Given the description of an element on the screen output the (x, y) to click on. 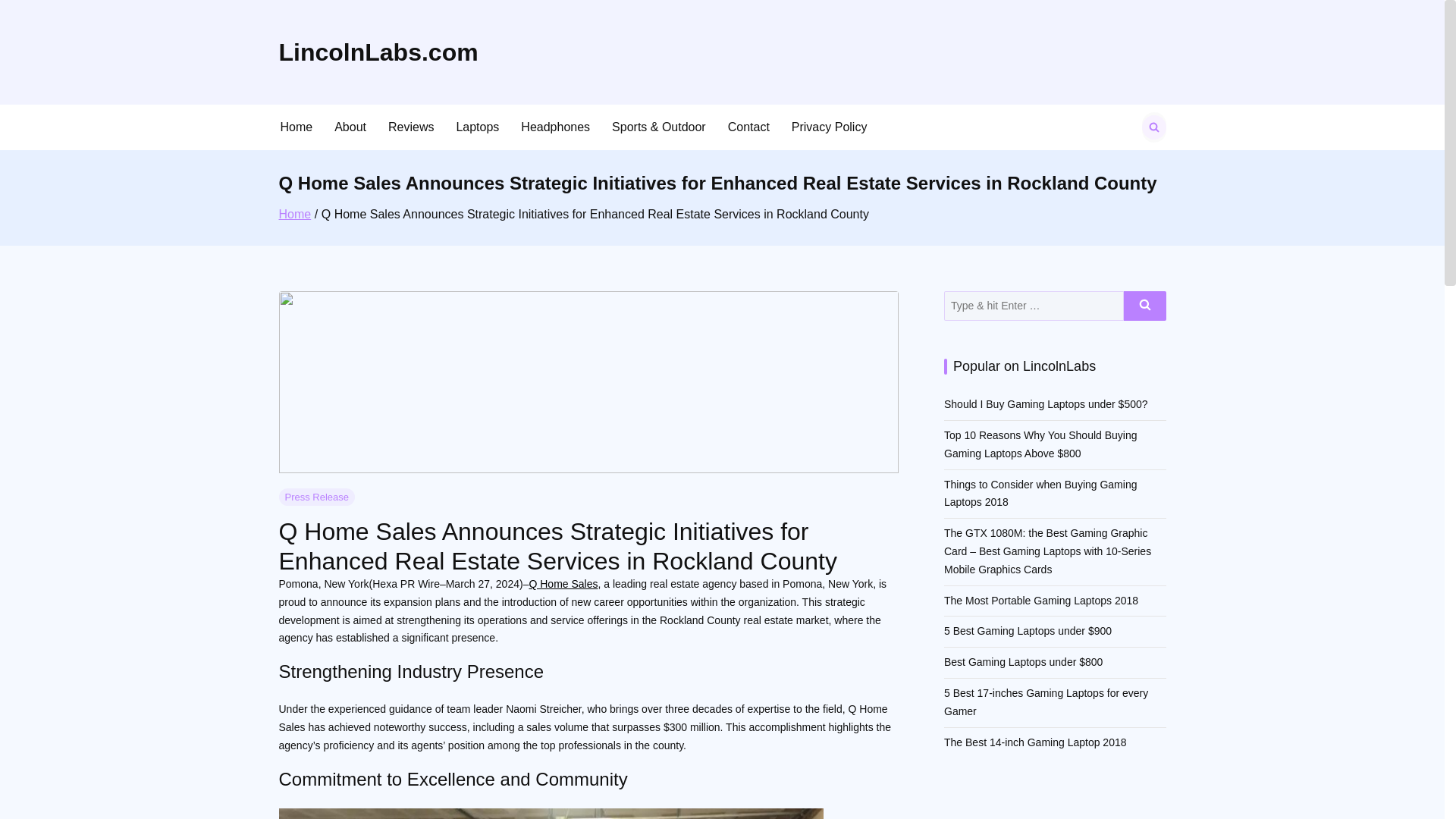
Headphones (555, 126)
Privacy Policy (829, 126)
Press Release (317, 497)
Reviews (411, 126)
Home (295, 214)
Search (1145, 306)
LincolnLabs.com (411, 52)
Laptops (477, 126)
Search (22, 17)
Contact (748, 126)
Search for: (1033, 306)
Q Home Sales (562, 583)
